Given the description of an element on the screen output the (x, y) to click on. 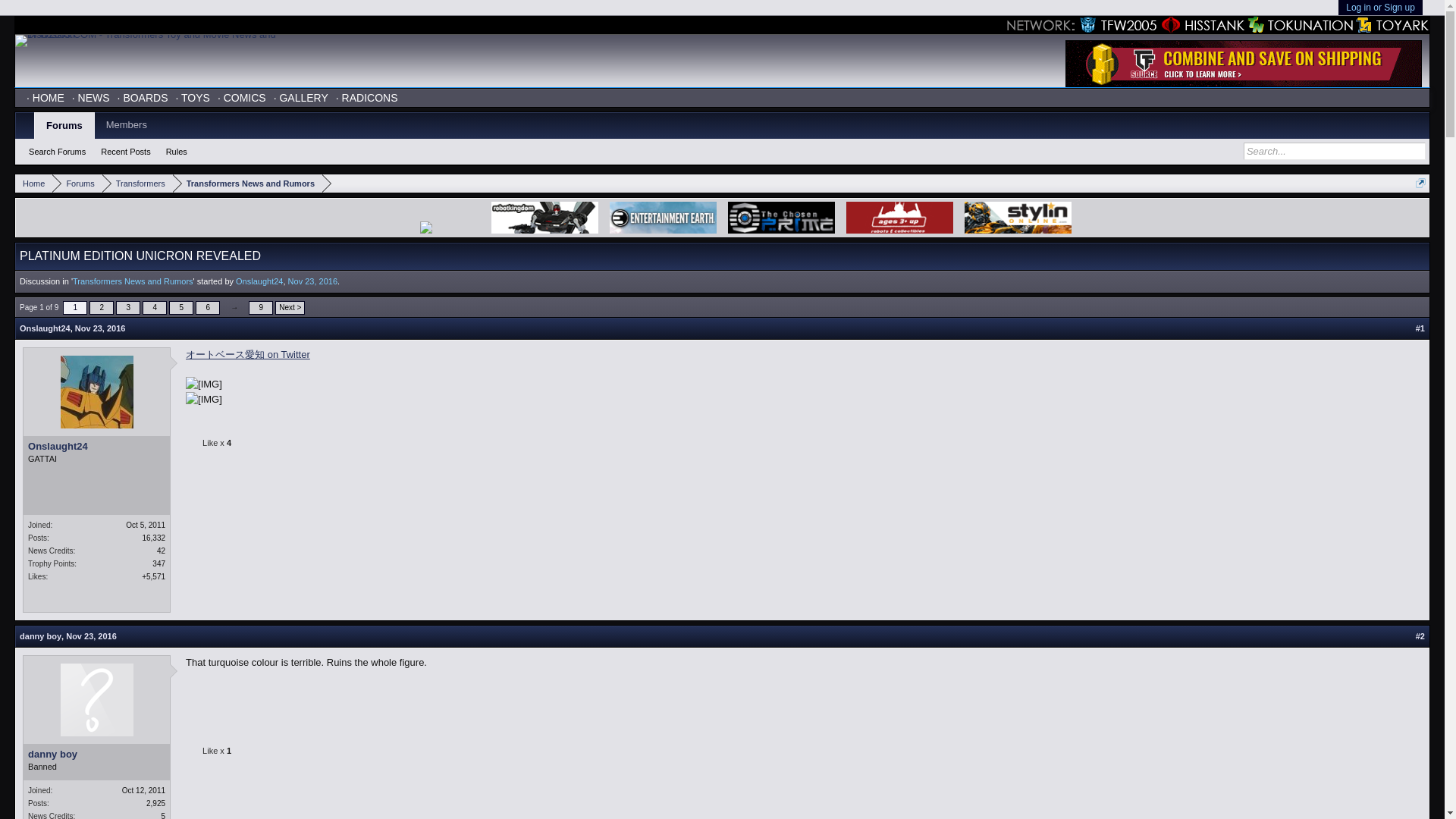
Onslaught24 (258, 280)
Nov 23, 2016 (153, 307)
Like (90, 635)
Open quick navigation (193, 444)
Permalink (1420, 183)
Transformers News and Rumors (100, 327)
Onslaught24 (247, 183)
Nov 23, 2016 (96, 446)
9 (100, 327)
